Given the description of an element on the screen output the (x, y) to click on. 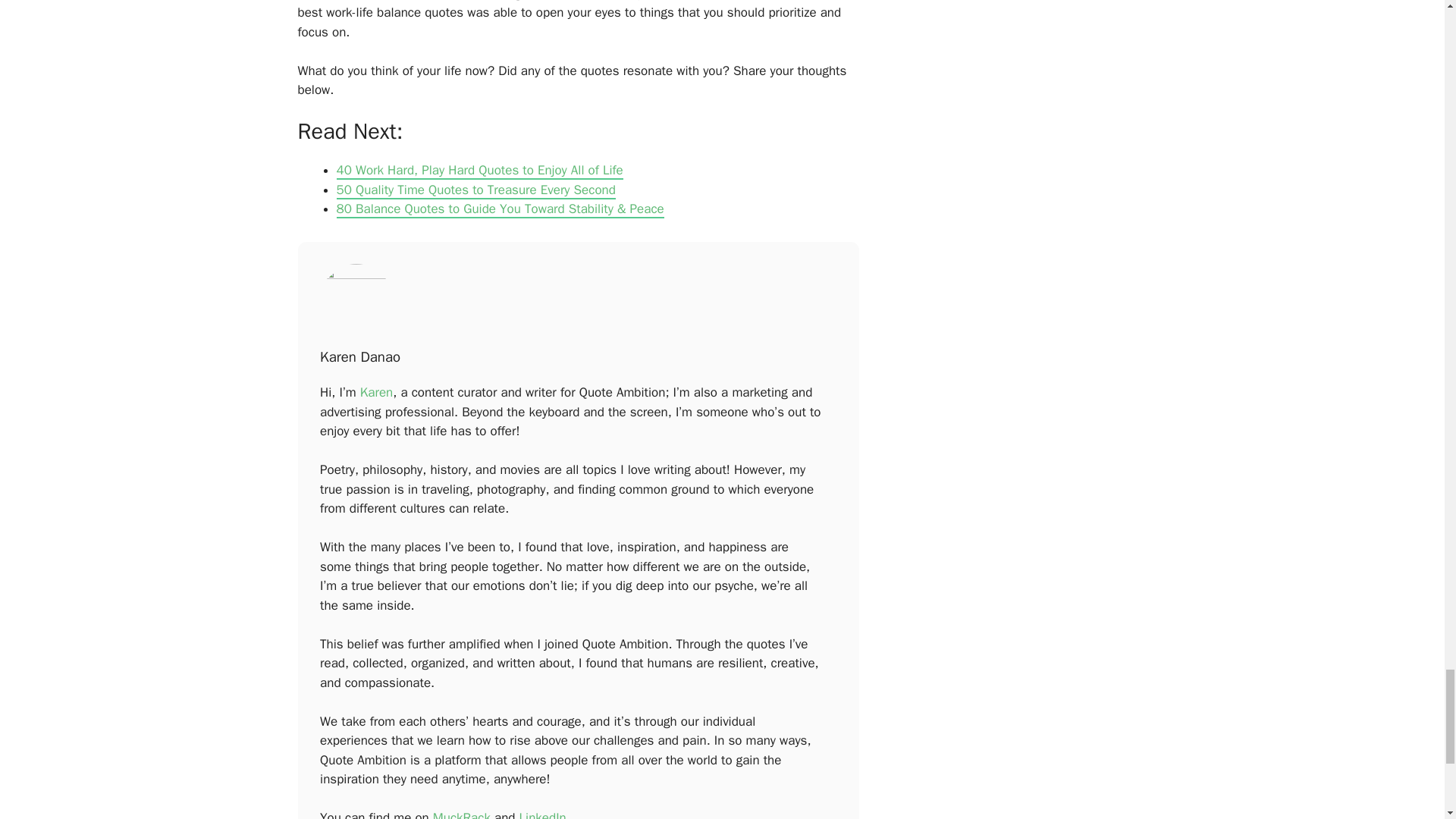
LinkedIn (542, 814)
50 Quality Time Quotes to Treasure Every Second (475, 190)
40 Work Hard, Play Hard Quotes to Enjoy All of Life (479, 170)
Karen (376, 392)
40 Work Hard, Play Hard Quotes to Enjoy All of Life (479, 170)
MuckRack (461, 814)
50 Quality Time Quotes to Treasure Every Second (475, 190)
